Given the description of an element on the screen output the (x, y) to click on. 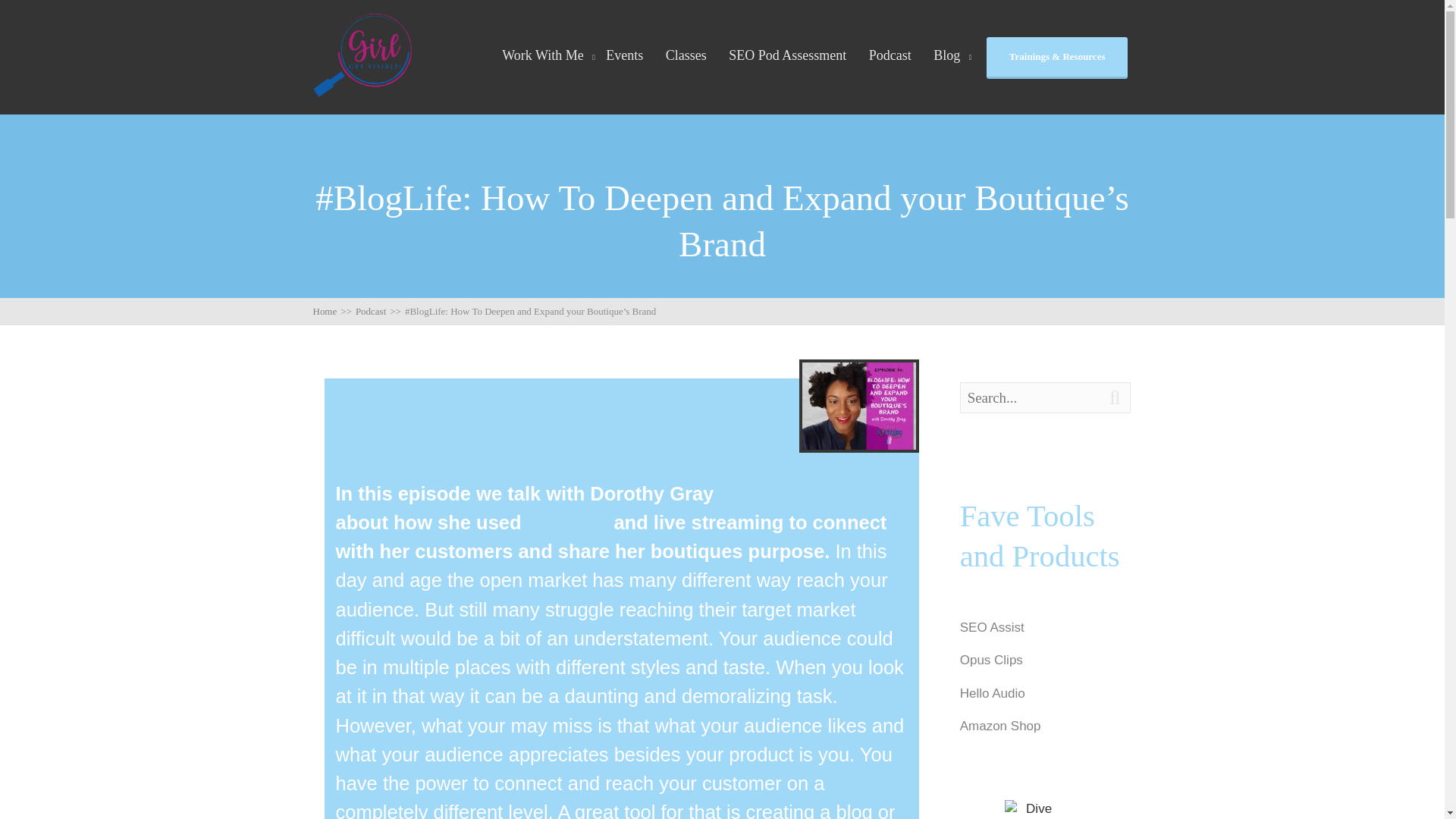
Events (624, 55)
Blog (946, 55)
blogging (567, 522)
Classes (685, 55)
Work With Me (542, 55)
Podcast (890, 55)
SEO Pod Assessment (787, 55)
episode-14 (858, 405)
